Given the description of an element on the screen output the (x, y) to click on. 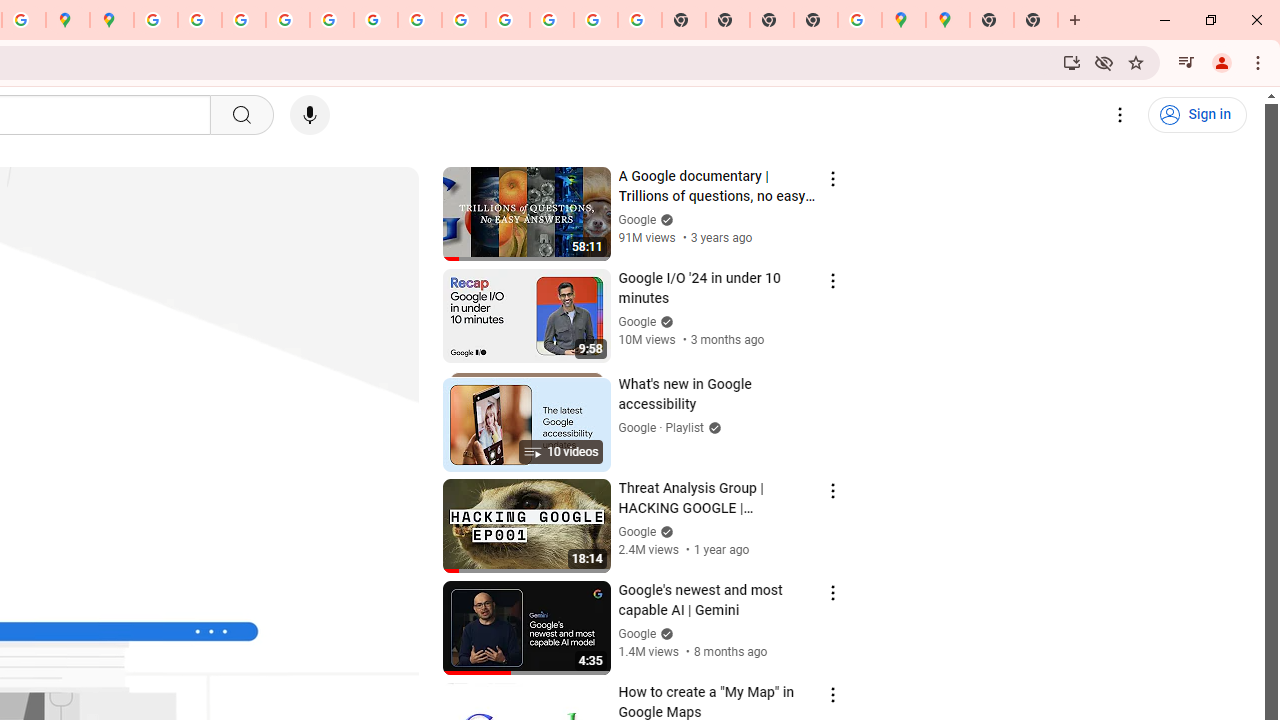
New Tab (815, 20)
Verified (664, 632)
Google Maps (947, 20)
Privacy Help Center - Policies Help (287, 20)
Google Maps (903, 20)
